Given the description of an element on the screen output the (x, y) to click on. 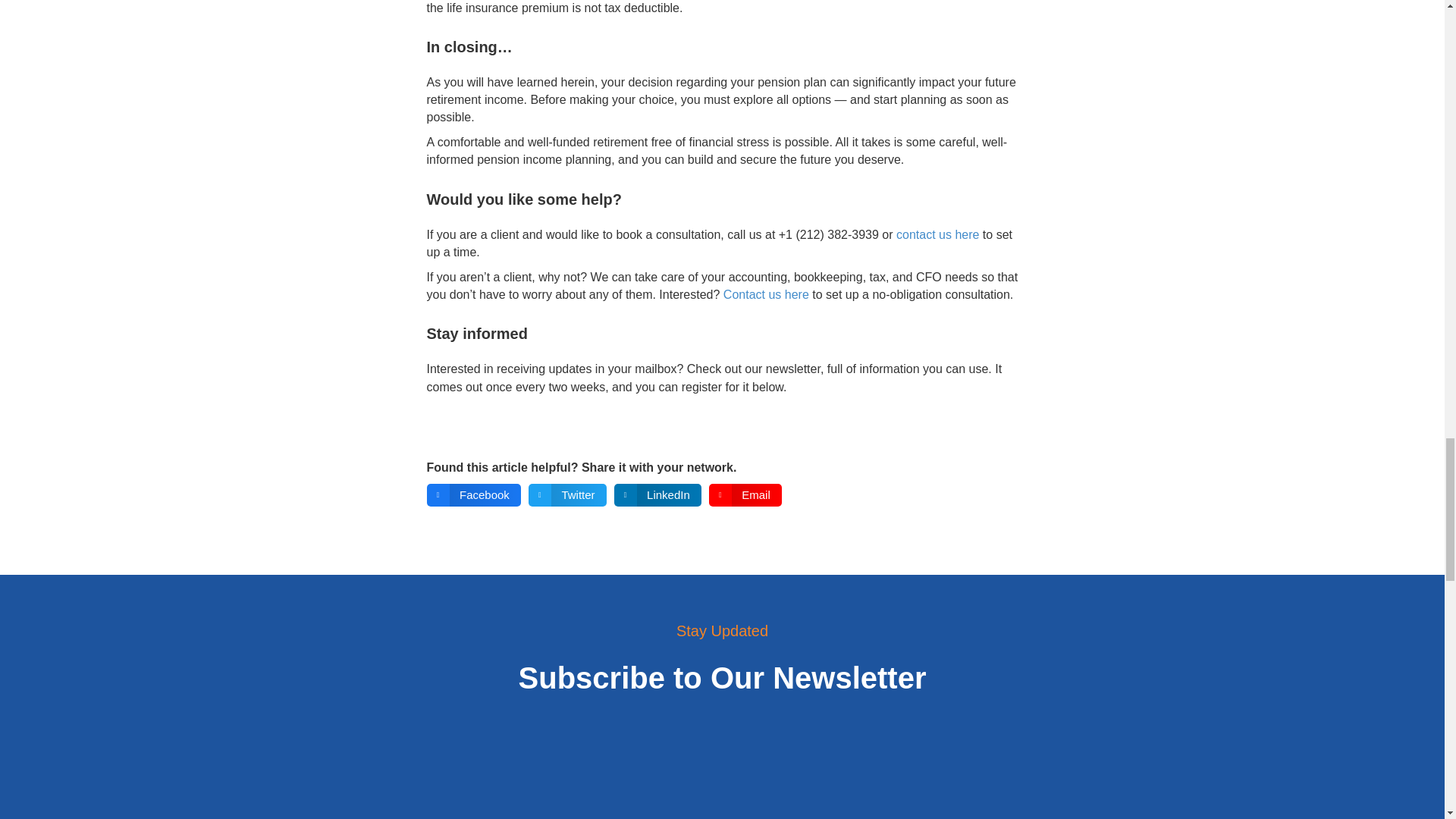
contact us here (937, 234)
Form 0 (722, 781)
Facebook (472, 495)
Contact us here (766, 294)
